Given the description of an element on the screen output the (x, y) to click on. 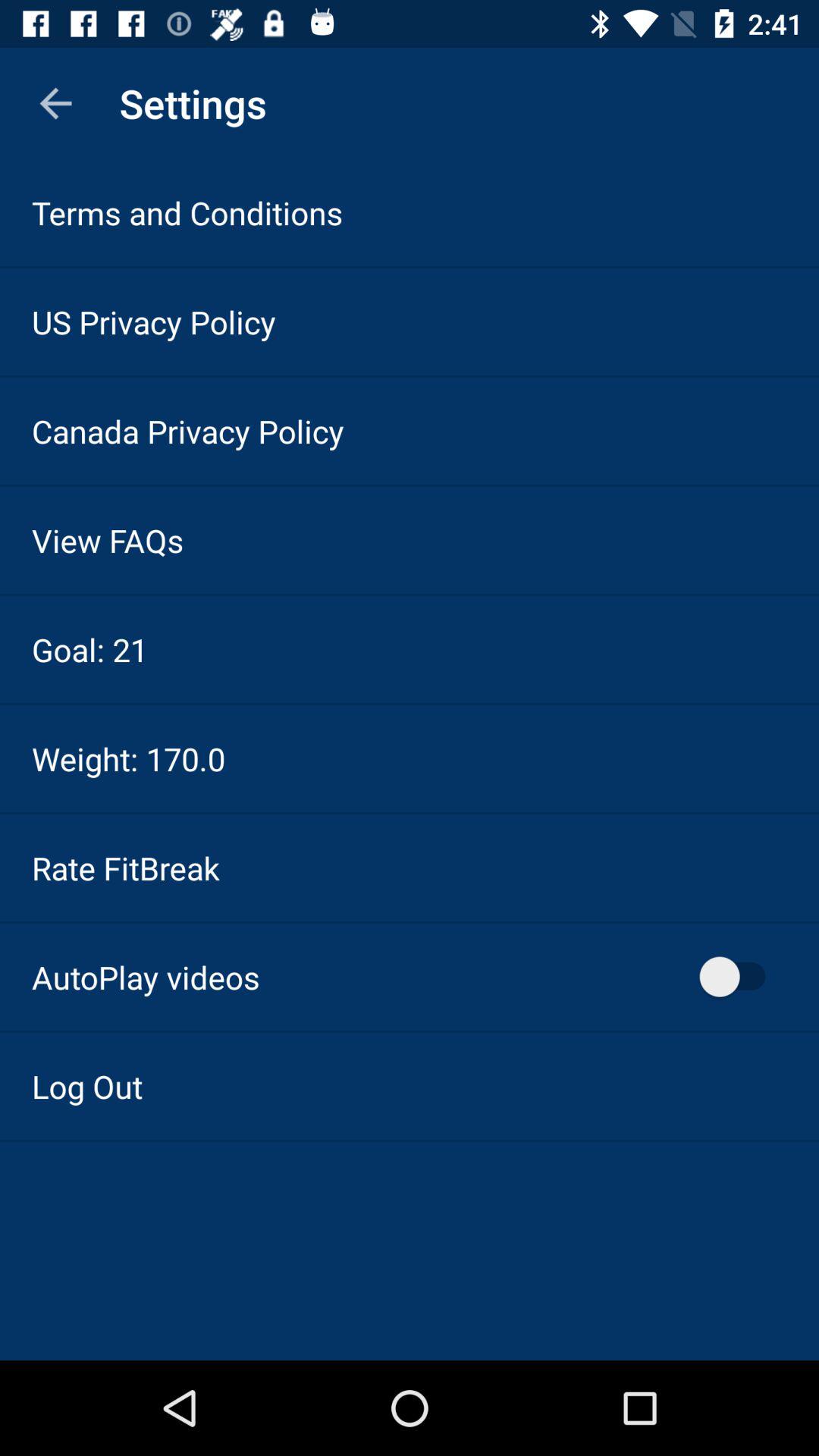
scroll until terms and conditions (186, 212)
